Given the description of an element on the screen output the (x, y) to click on. 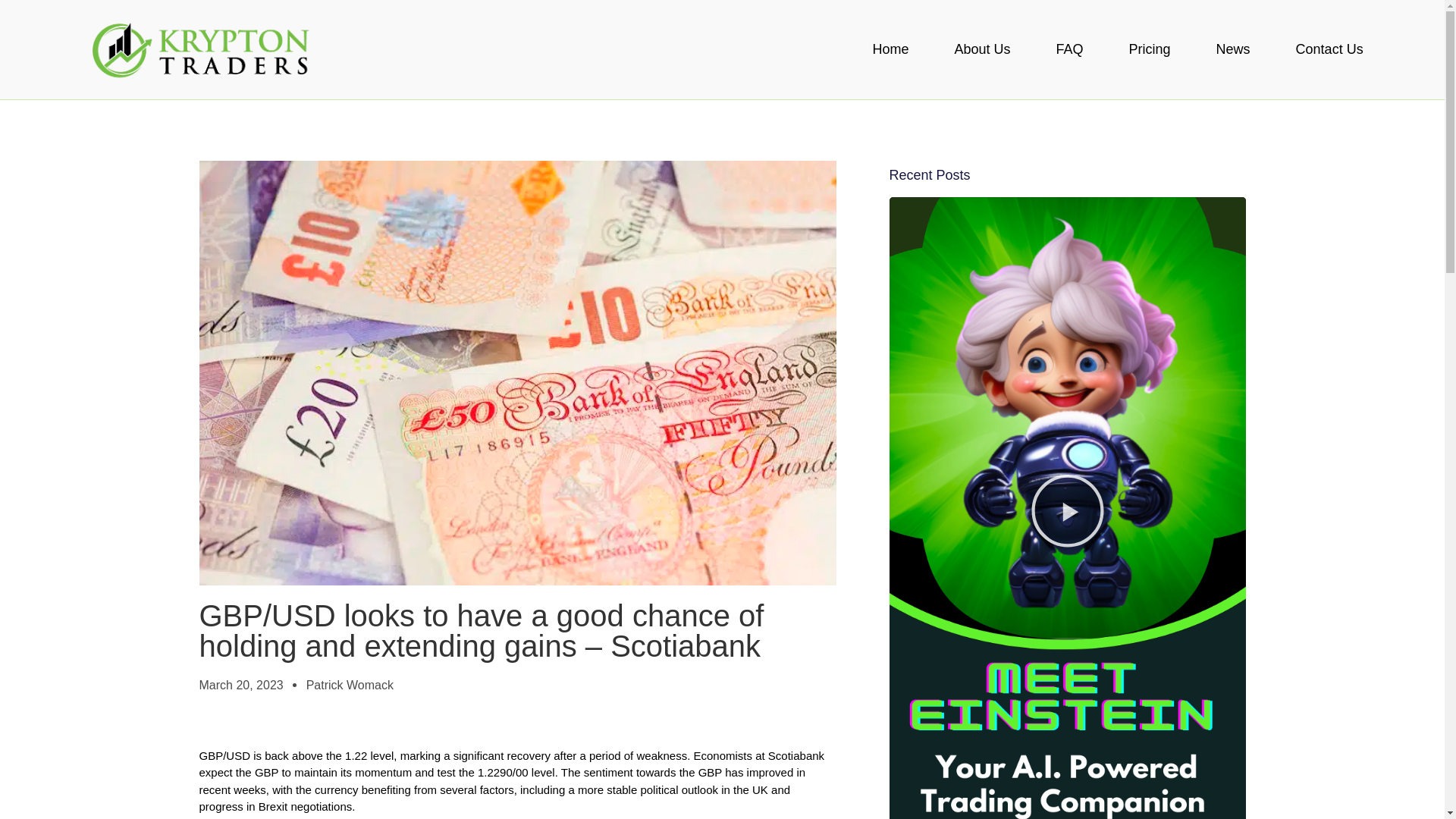
News (1232, 48)
About Us (981, 48)
FAQ (1069, 48)
Patrick Womack (349, 685)
Contact Us (1329, 48)
Home (889, 48)
March 20, 2023 (240, 685)
Pricing (1149, 48)
